Given the description of an element on the screen output the (x, y) to click on. 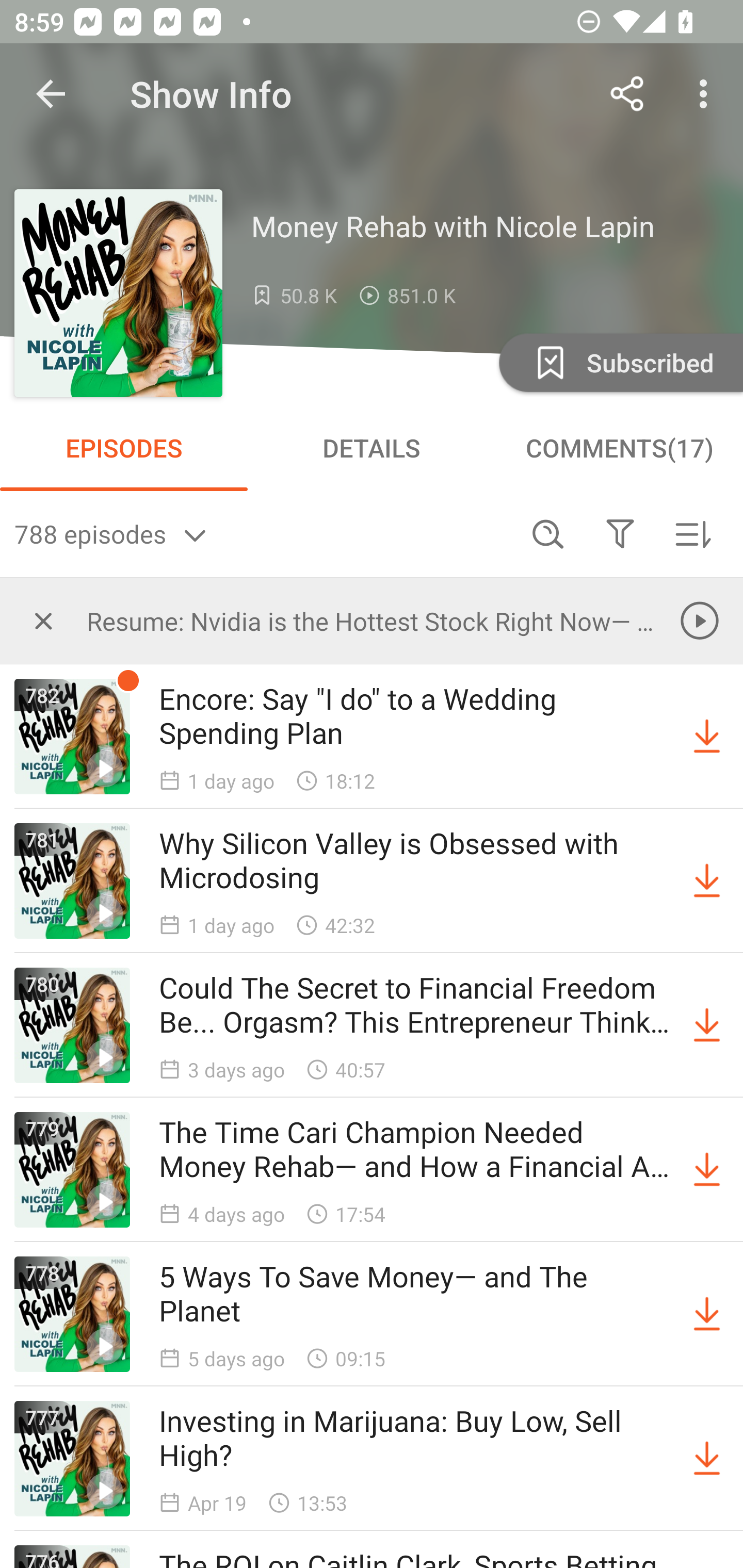
Navigate up (50, 93)
Share (626, 93)
More options (706, 93)
Unsubscribe Subscribed (619, 361)
EPISODES (123, 447)
DETAILS (371, 447)
COMMENTS(17) (619, 447)
788 episodes  (262, 533)
 Search (547, 533)
 (619, 533)
 Sorted by newest first (692, 533)
 (43, 620)
Download (706, 736)
Download (706, 881)
Download (706, 1025)
Download (706, 1169)
Download (706, 1313)
Download (706, 1458)
